Given the description of an element on the screen output the (x, y) to click on. 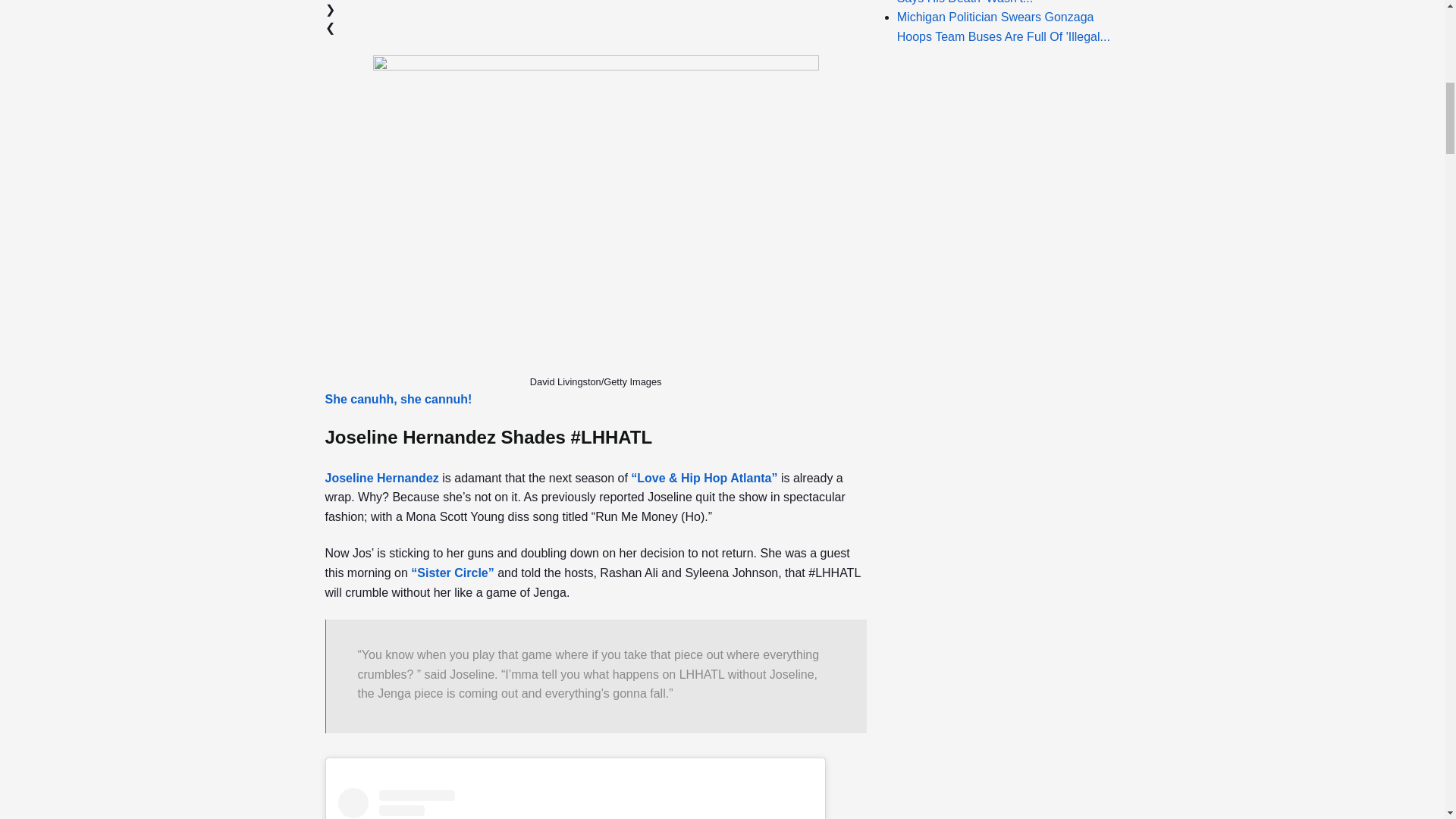
View this post on Instagram (574, 803)
Joseline Hernandez (381, 477)
She canuhh, she cannuh! (397, 399)
